Given the description of an element on the screen output the (x, y) to click on. 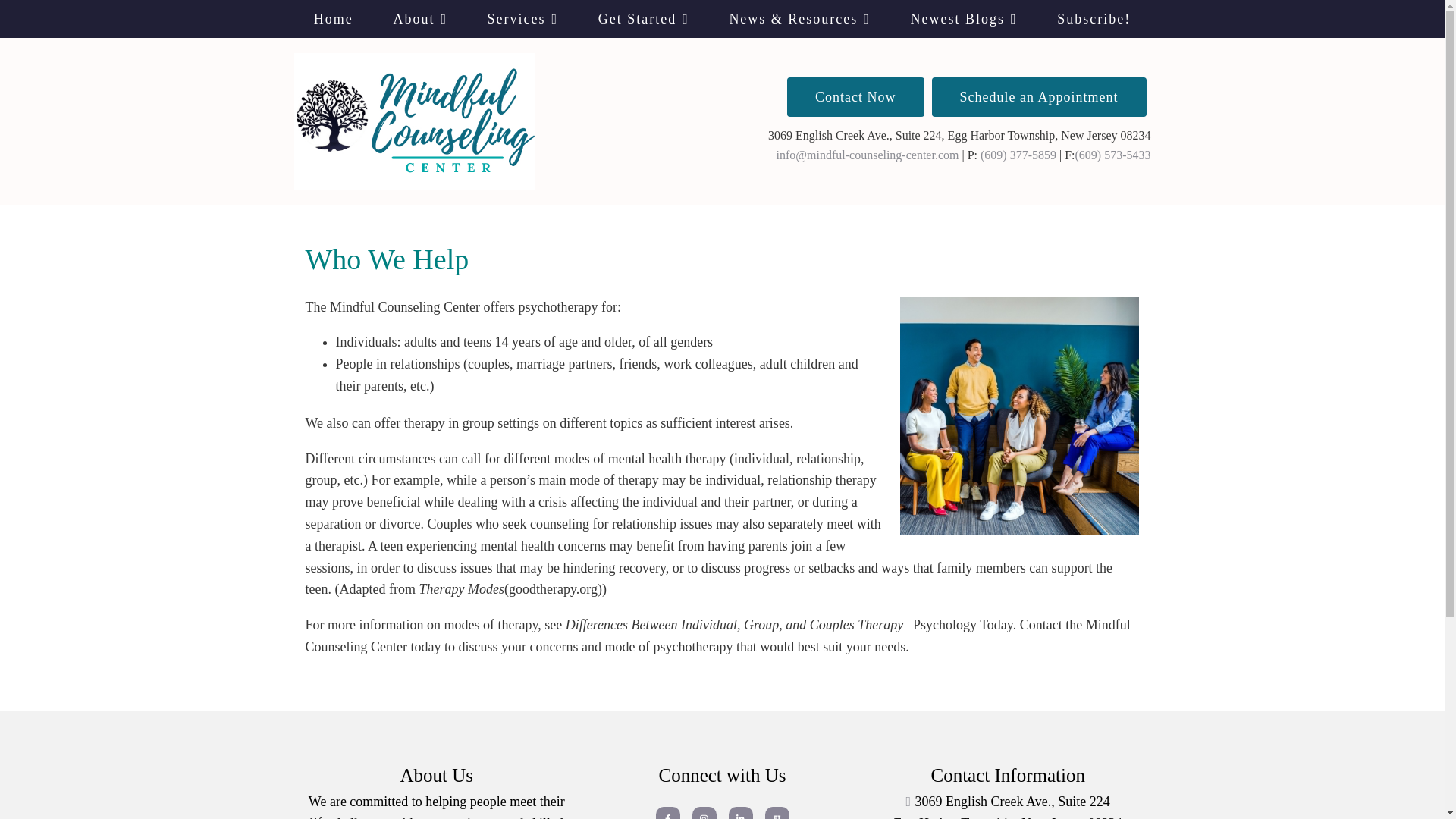
Services (522, 18)
Home (334, 18)
About (419, 18)
